Given the description of an element on the screen output the (x, y) to click on. 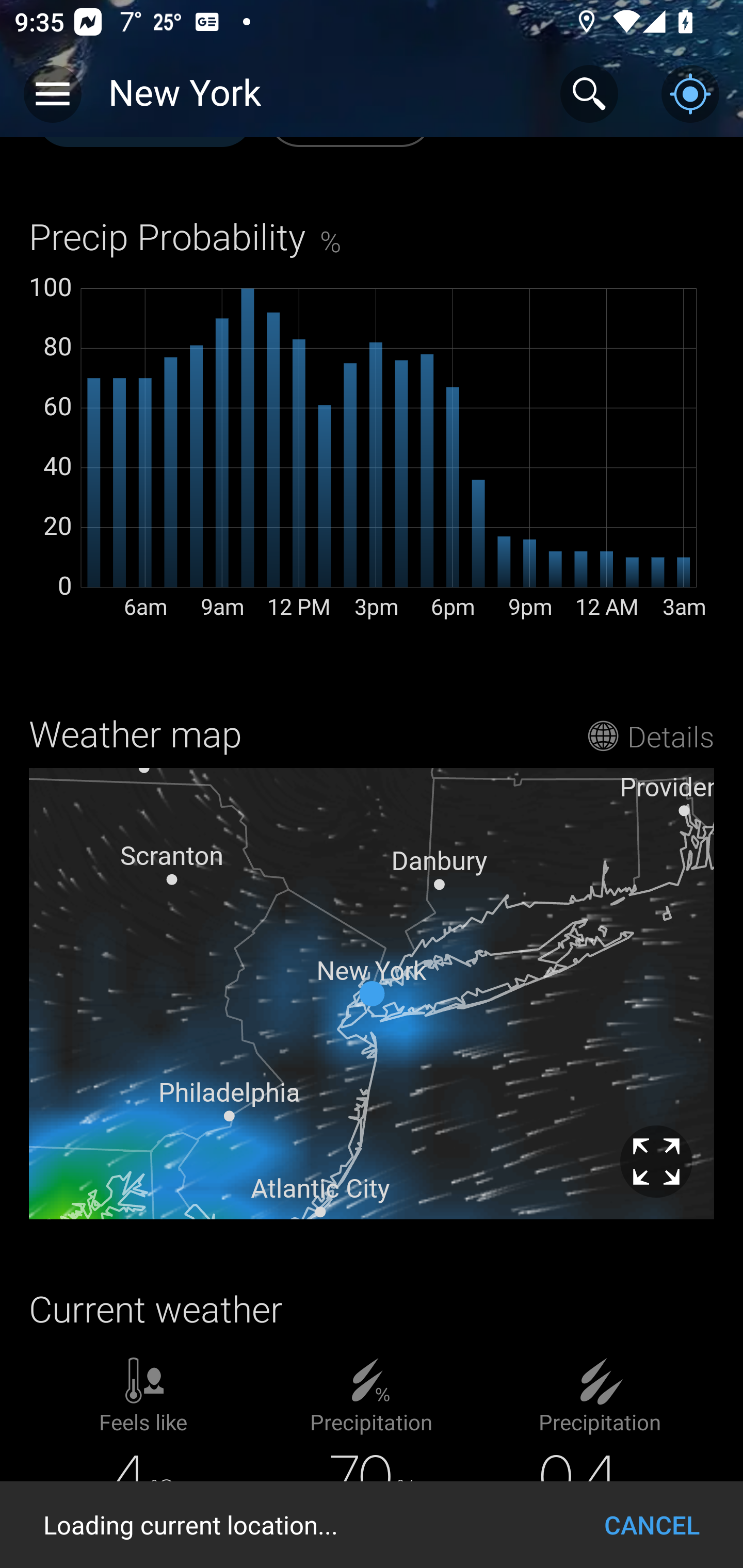
Loading current location... CANCEL (371, 1524)
CANCEL (651, 1524)
